Given the description of an element on the screen output the (x, y) to click on. 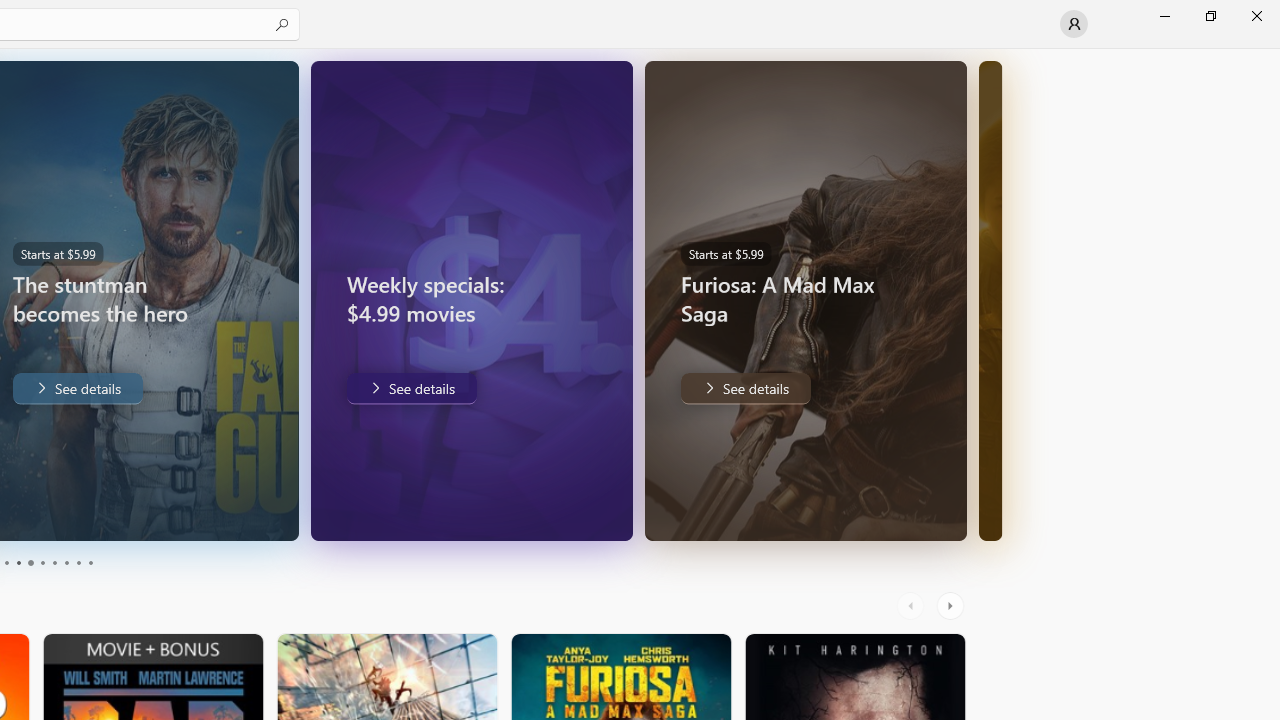
Page 9 (77, 562)
Page 7 (54, 562)
Page 6 (41, 562)
AutomationID: RightScrollButton (952, 606)
Page 3 (5, 562)
Page 10 (90, 562)
Page 5 (29, 562)
Page 8 (65, 562)
